Given the description of an element on the screen output the (x, y) to click on. 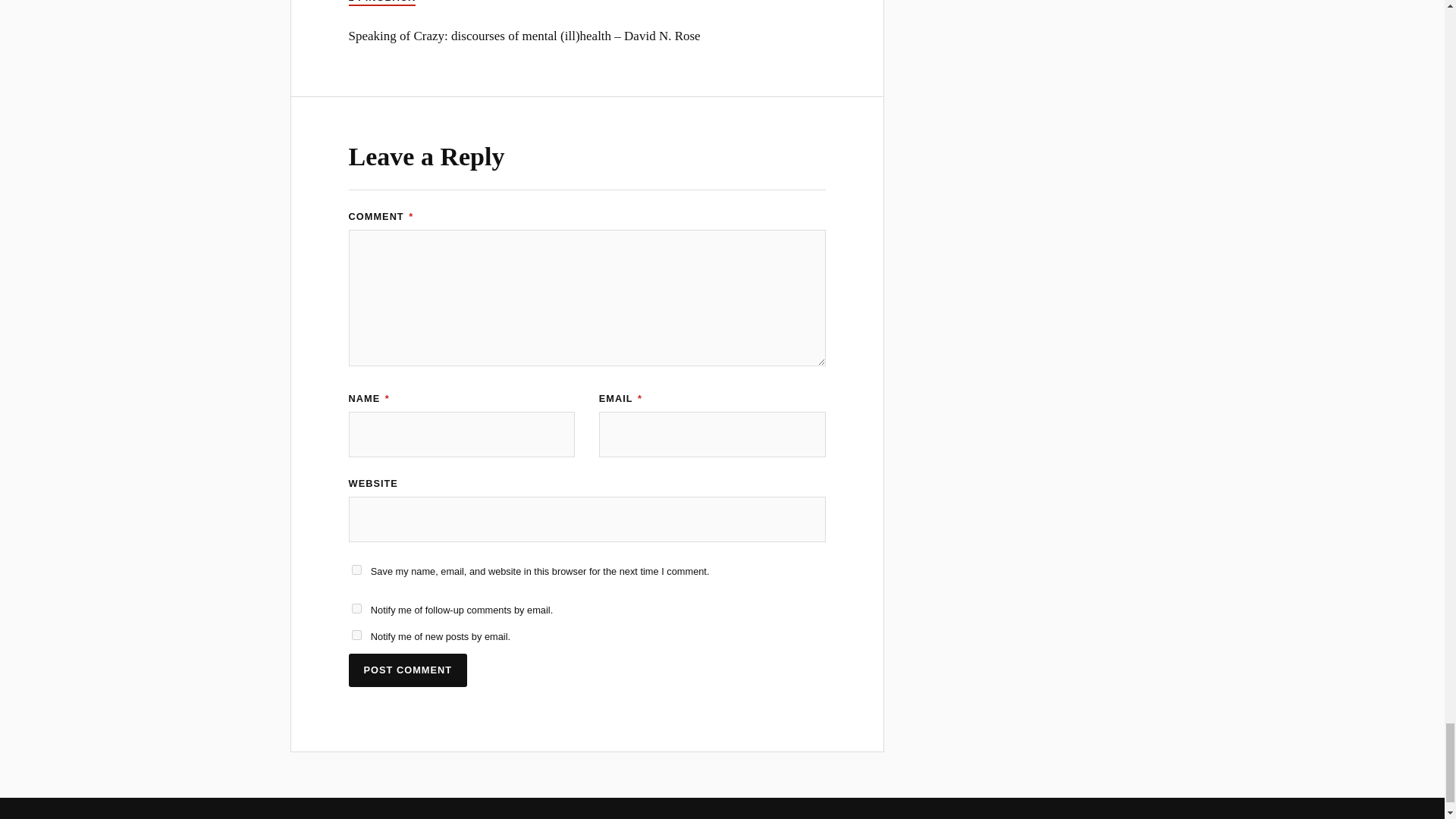
subscribe (356, 608)
yes (356, 569)
subscribe (356, 634)
Post Comment (408, 670)
